Given the description of an element on the screen output the (x, y) to click on. 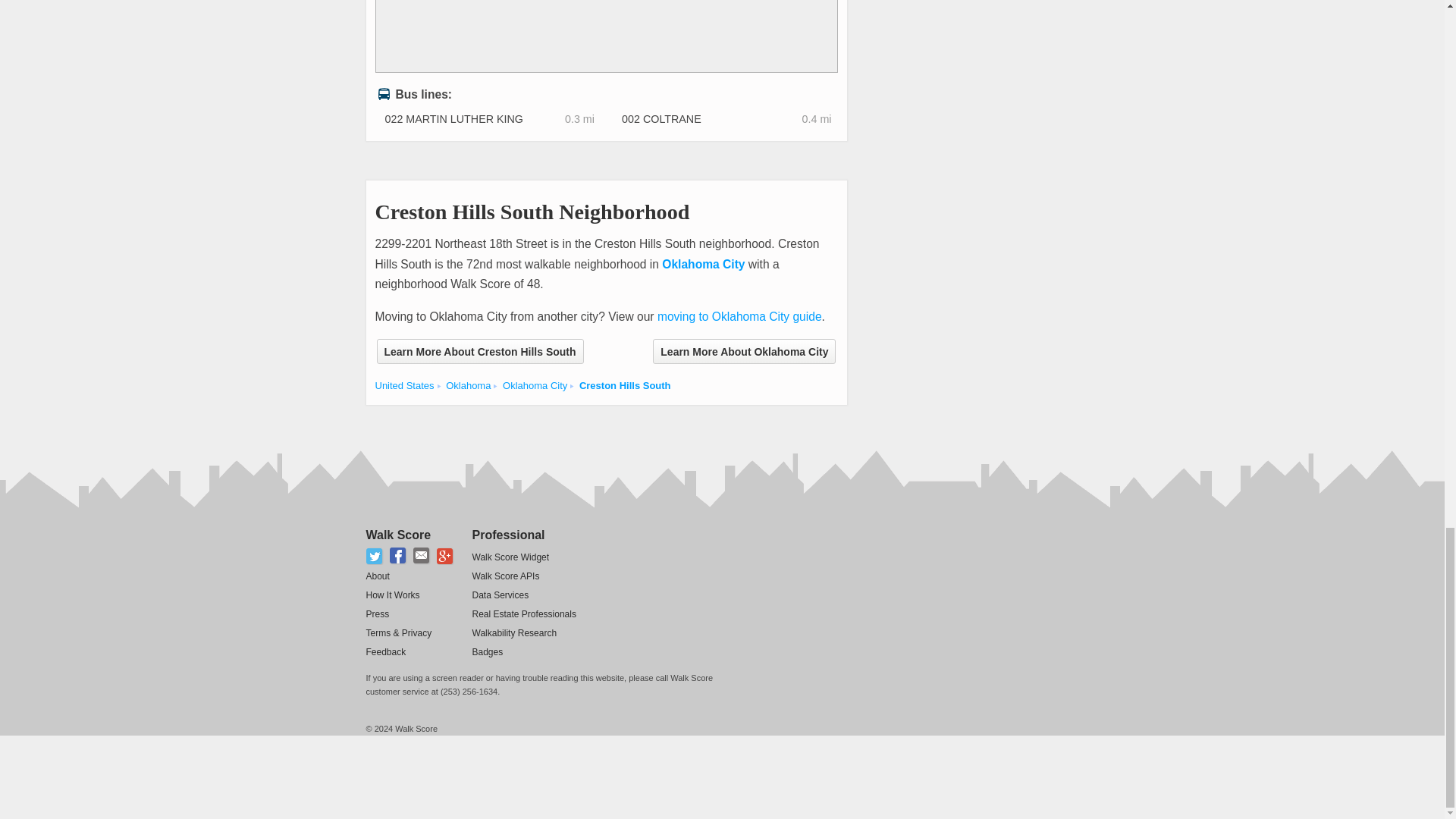
Oklahoma City (703, 264)
United States Walkability Rankings (403, 385)
Cities in Oklahoma state (467, 385)
moving to Oklahoma City guide (740, 316)
